Given the description of an element on the screen output the (x, y) to click on. 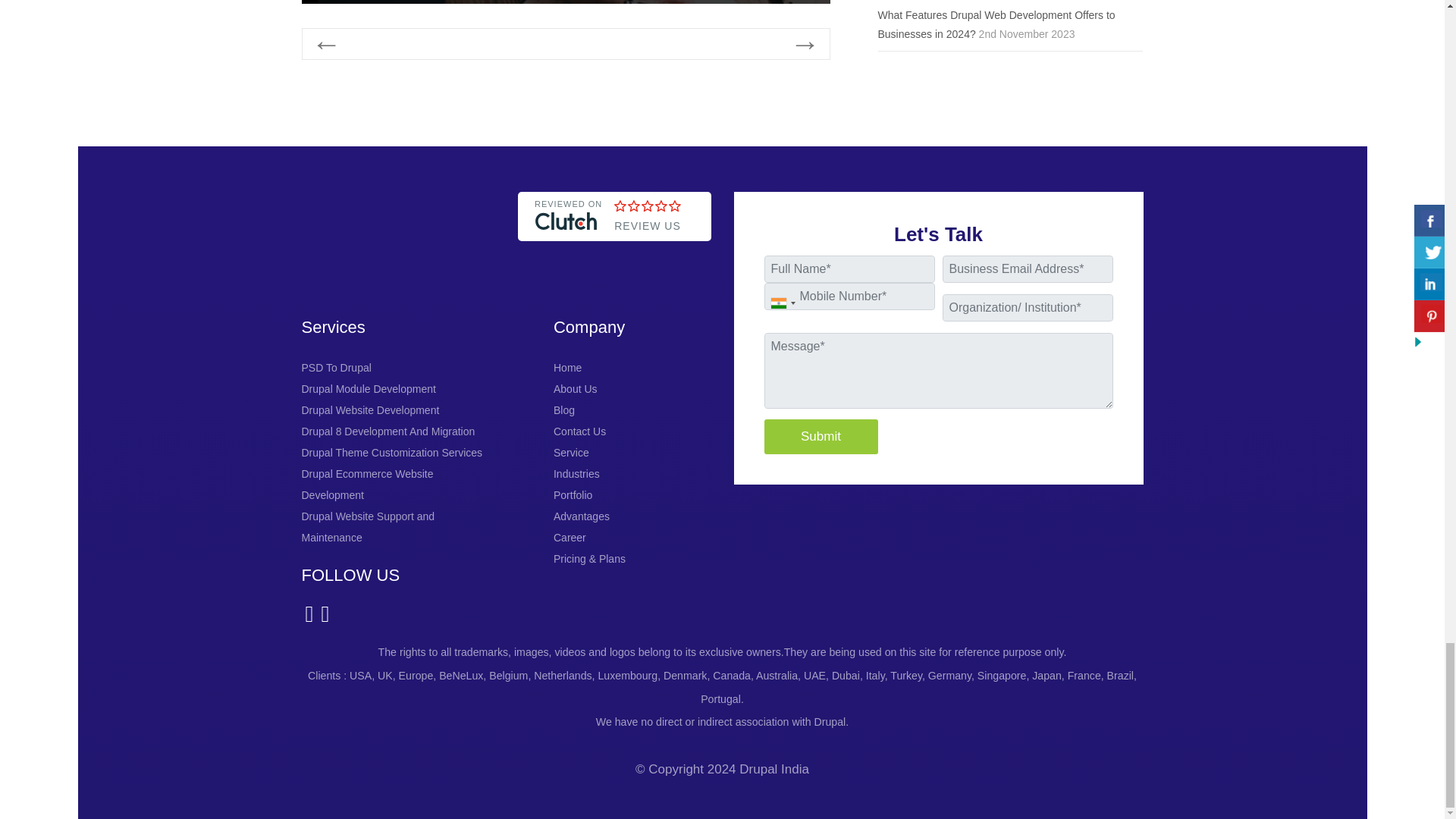
Drupal India Clutch Review Widget 16 (614, 255)
Submit (820, 436)
